Given the description of an element on the screen output the (x, y) to click on. 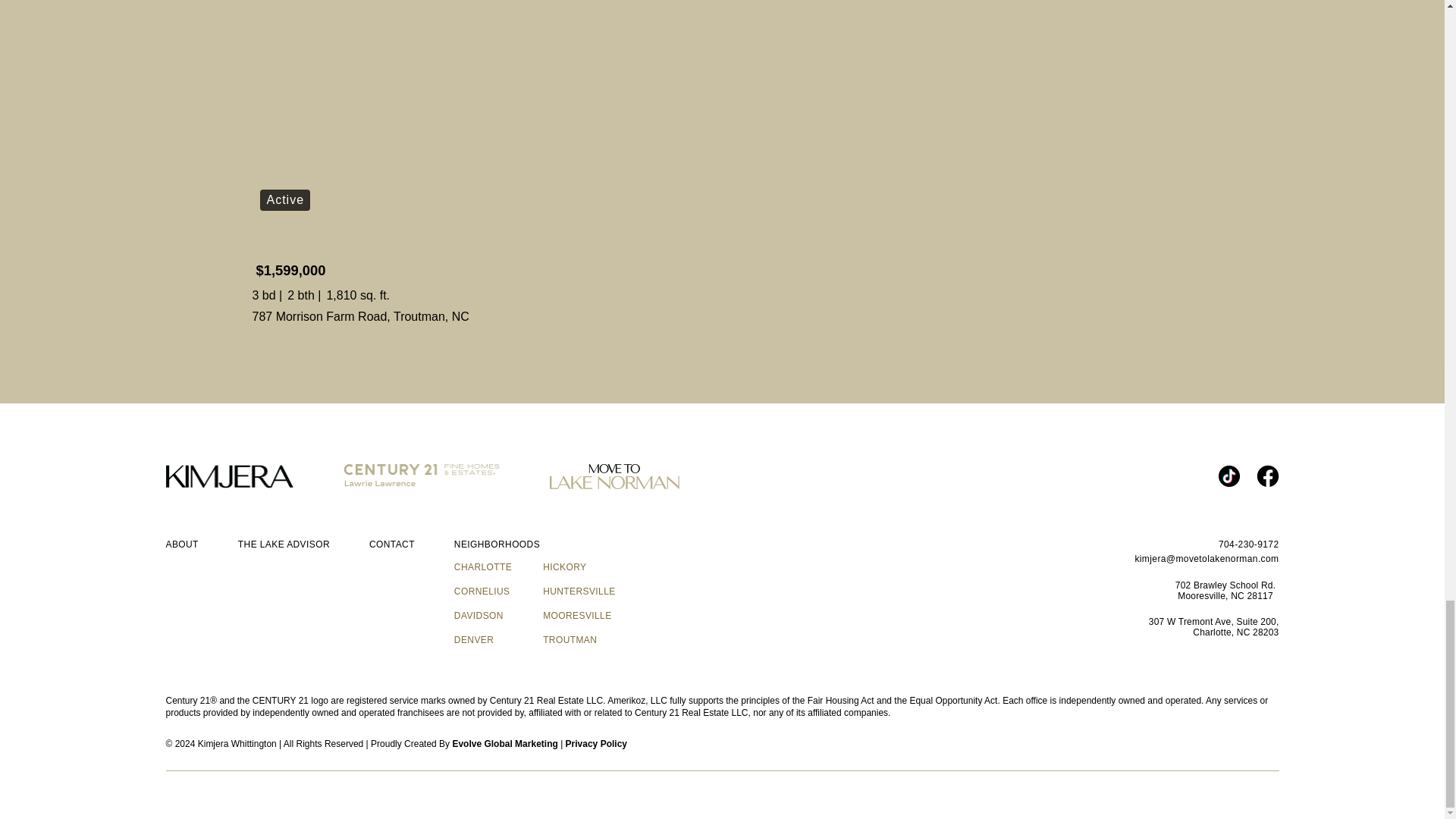
THE LAKE ADVISOR (284, 544)
ABOUT (181, 544)
787 Morrison Farm Road, Troutman, NC (359, 316)
NEIGHBORHOODS (497, 544)
CONTACT (391, 544)
